Given the description of an element on the screen output the (x, y) to click on. 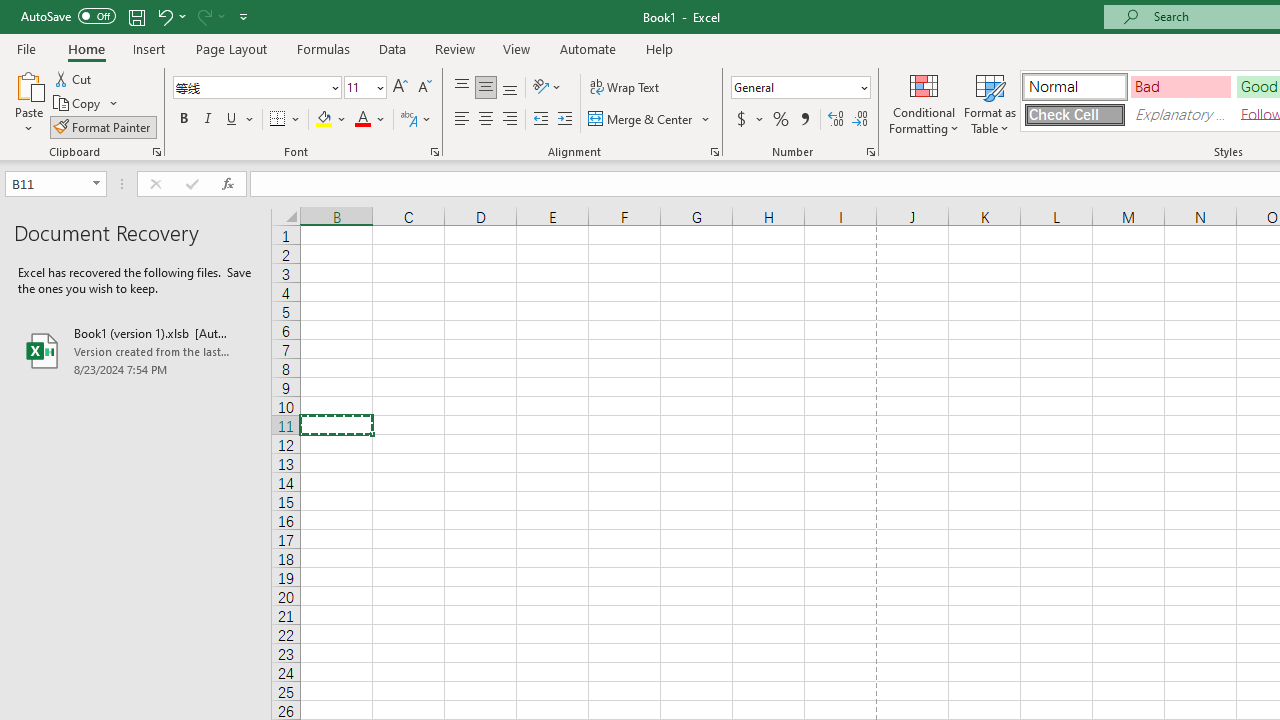
Font Color RGB(255, 0, 0) (362, 119)
Middle Align (485, 87)
Number Format (794, 87)
Wrap Text (624, 87)
